Given the description of an element on the screen output the (x, y) to click on. 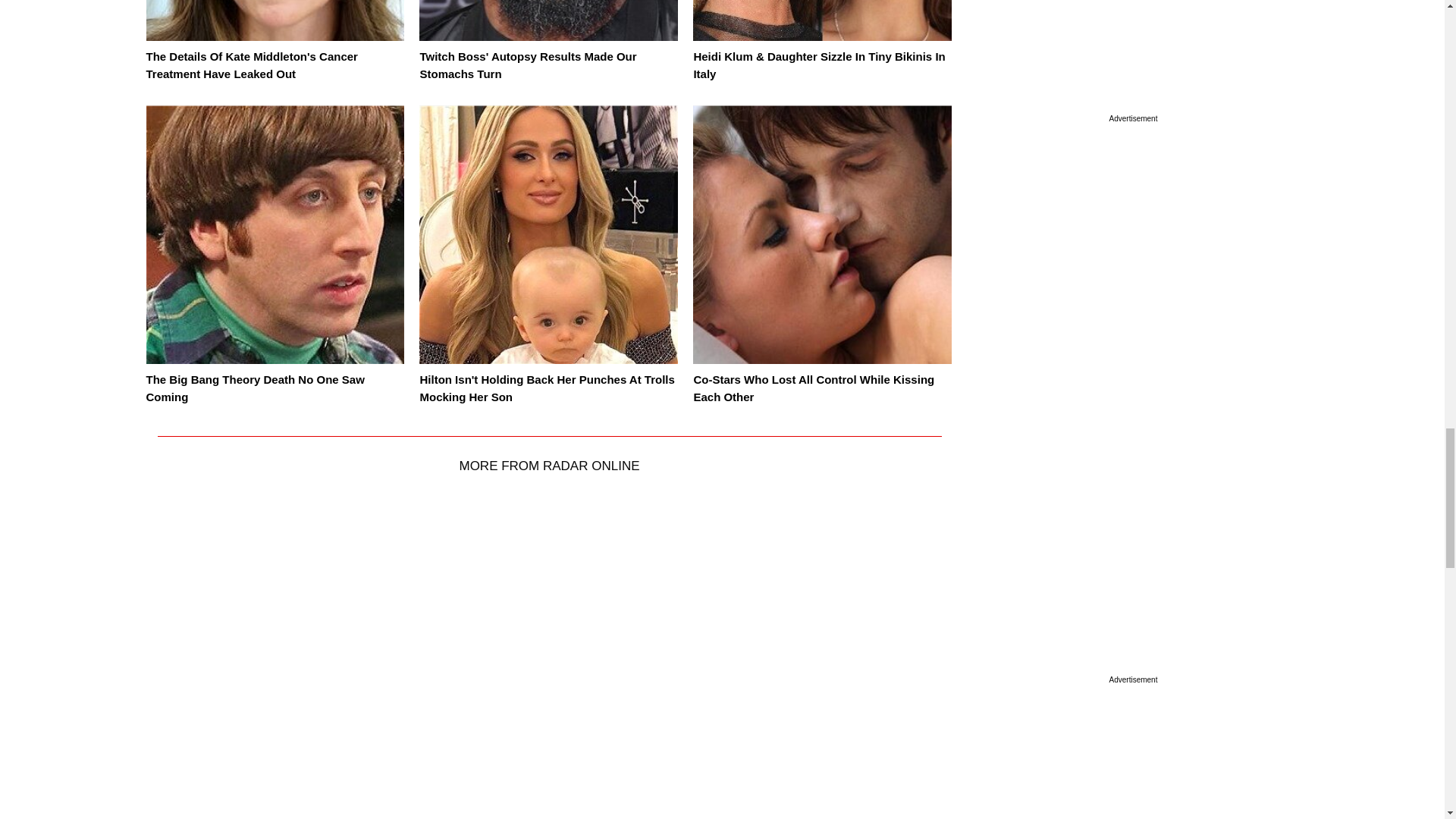
The Big Bang Theory Death No One Saw Coming (254, 388)
Twitch Boss' Autopsy Results Made Our Stomachs Turn (527, 64)
